Given the description of an element on the screen output the (x, y) to click on. 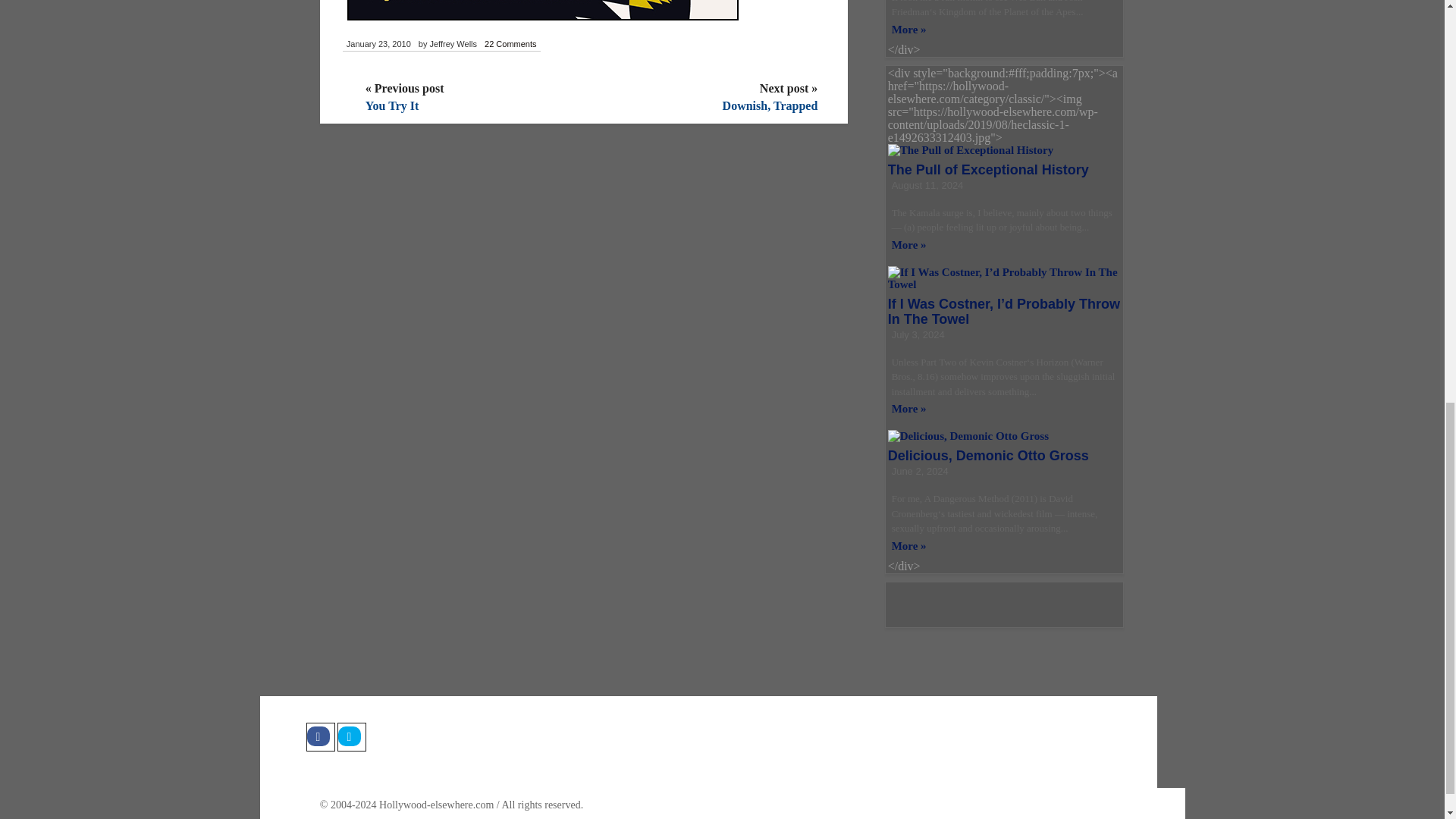
January 23, 2010 (378, 44)
Twitter (350, 736)
Facebook (319, 736)
by Jeffrey Wells (447, 44)
22 Comments (510, 44)
